Given the description of an element on the screen output the (x, y) to click on. 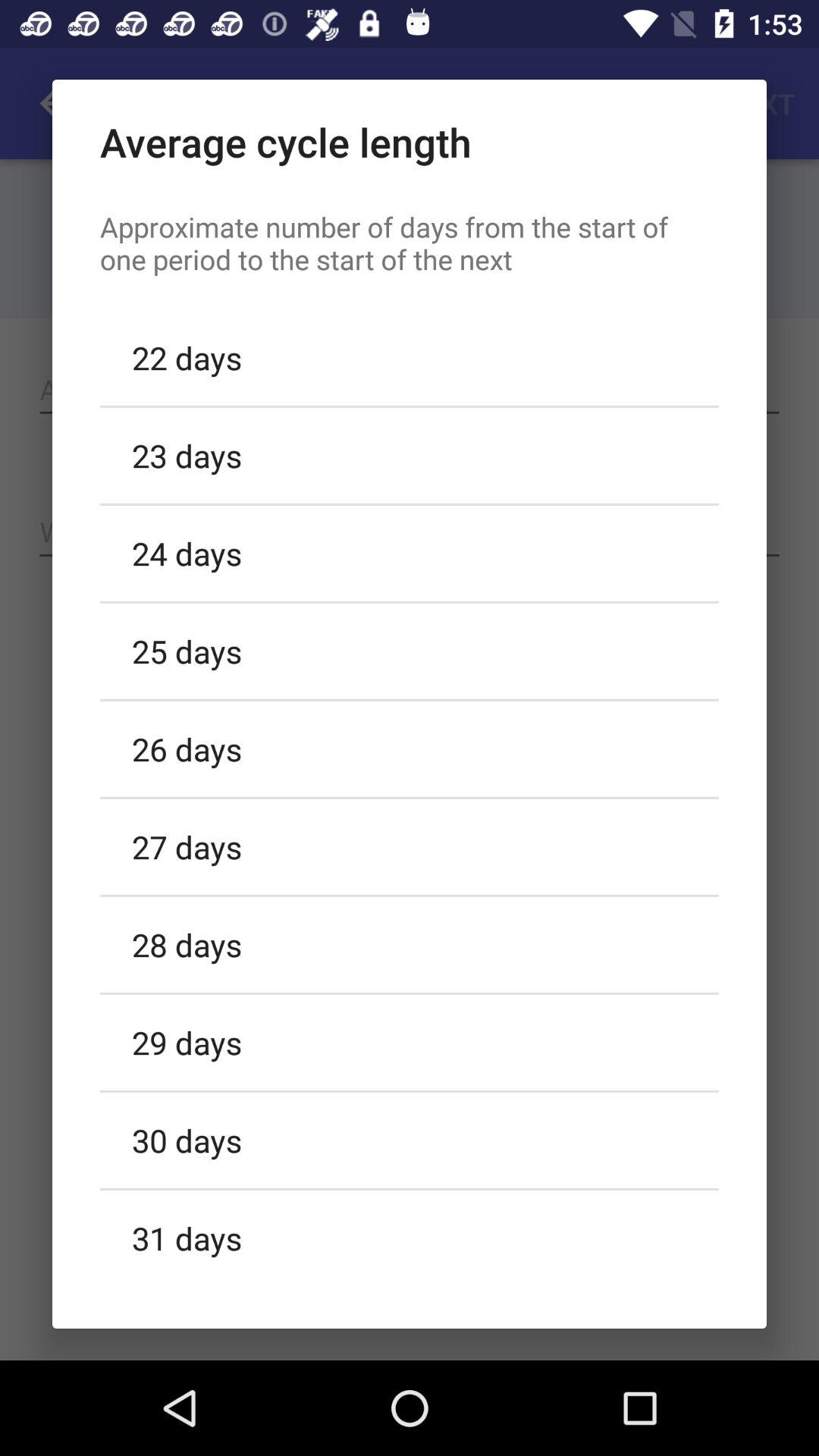
launch the 29 days item (409, 1042)
